Given the description of an element on the screen output the (x, y) to click on. 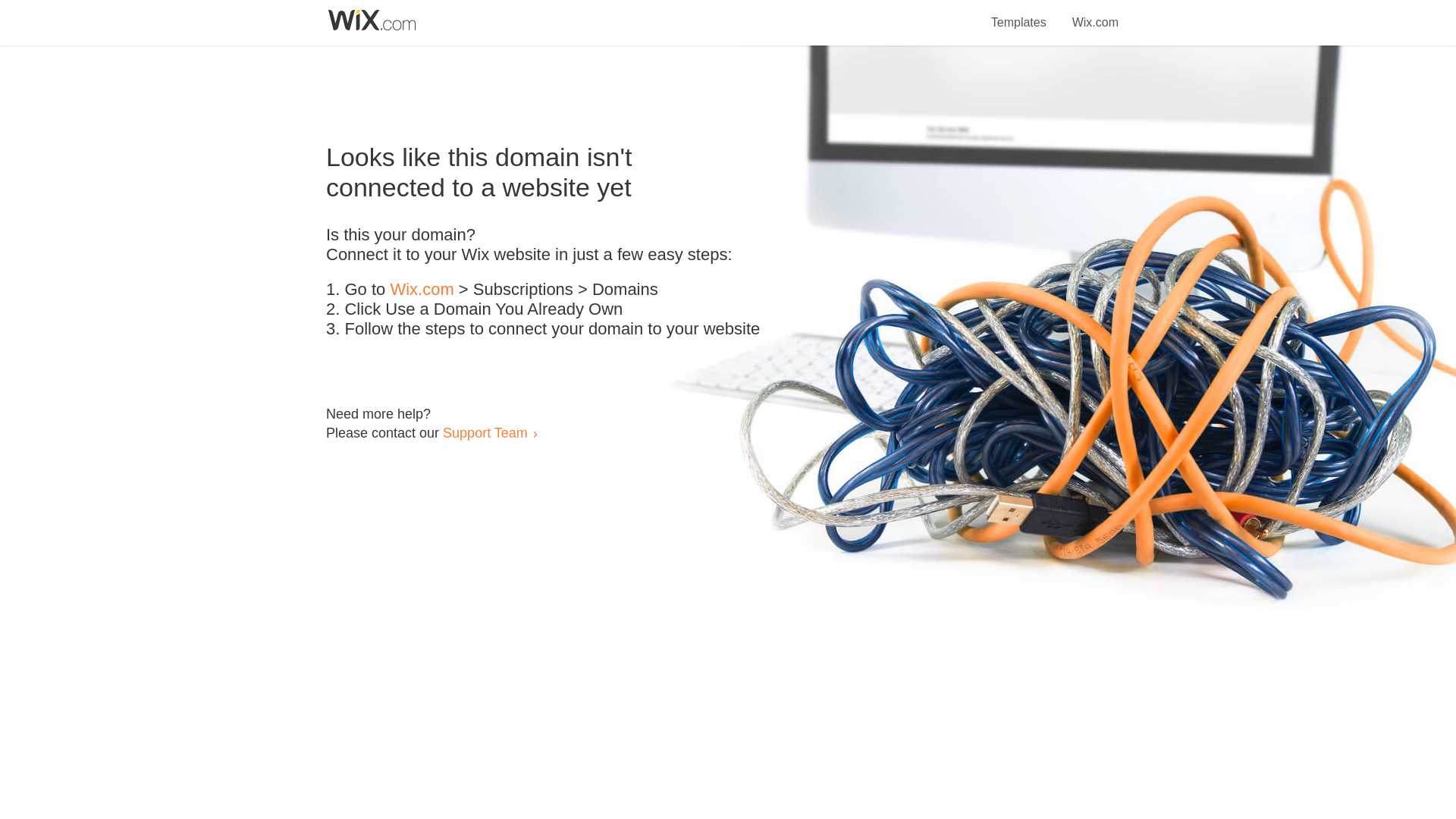
Templates (1018, 14)
Support Team (484, 432)
Wix.com (421, 289)
Wix.com (1095, 14)
